Given the description of an element on the screen output the (x, y) to click on. 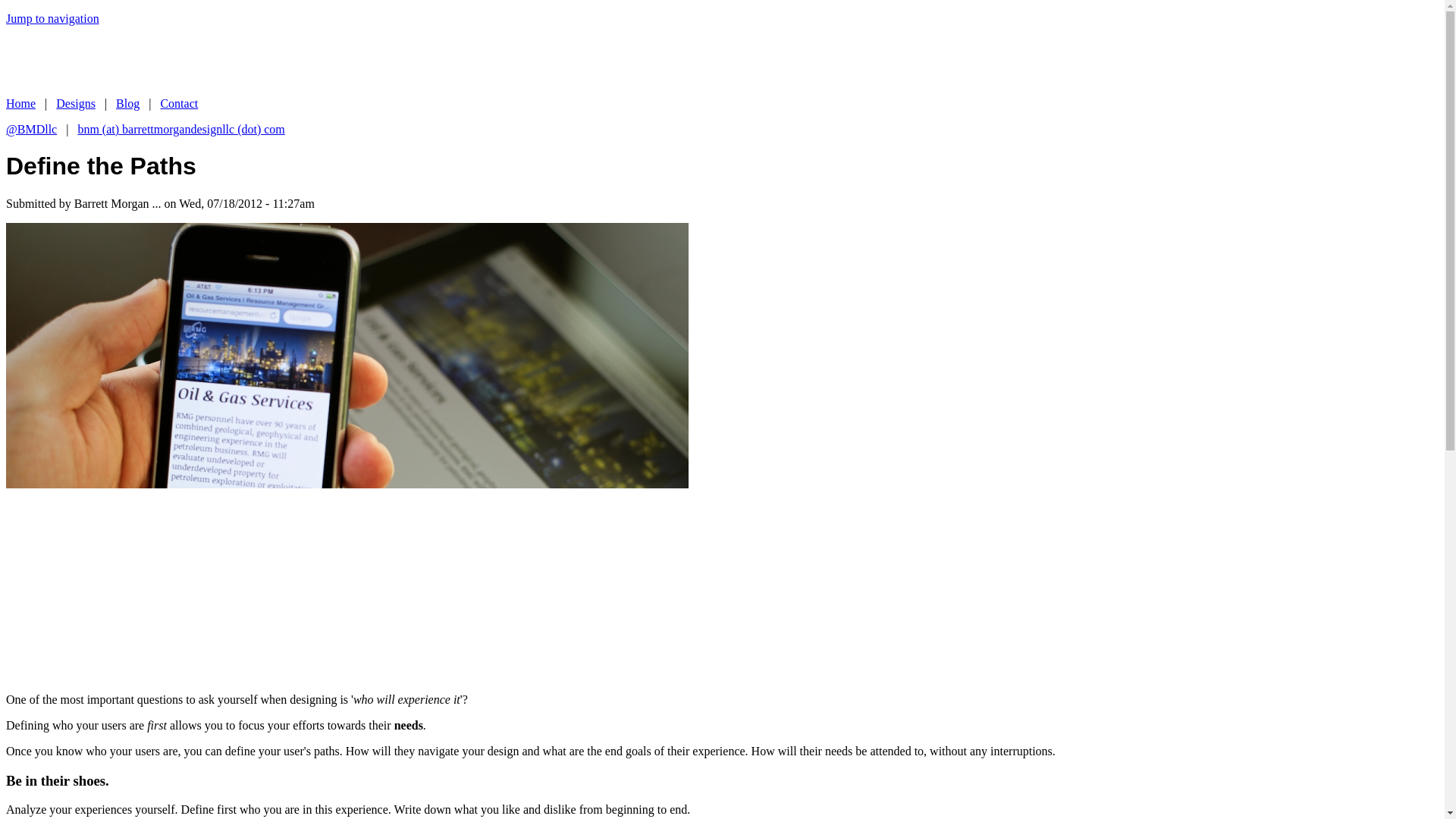
Contact (179, 103)
Designs (76, 103)
Blog (127, 103)
Home (19, 103)
Home (85, 77)
Jump to navigation (52, 18)
